Given the description of an element on the screen output the (x, y) to click on. 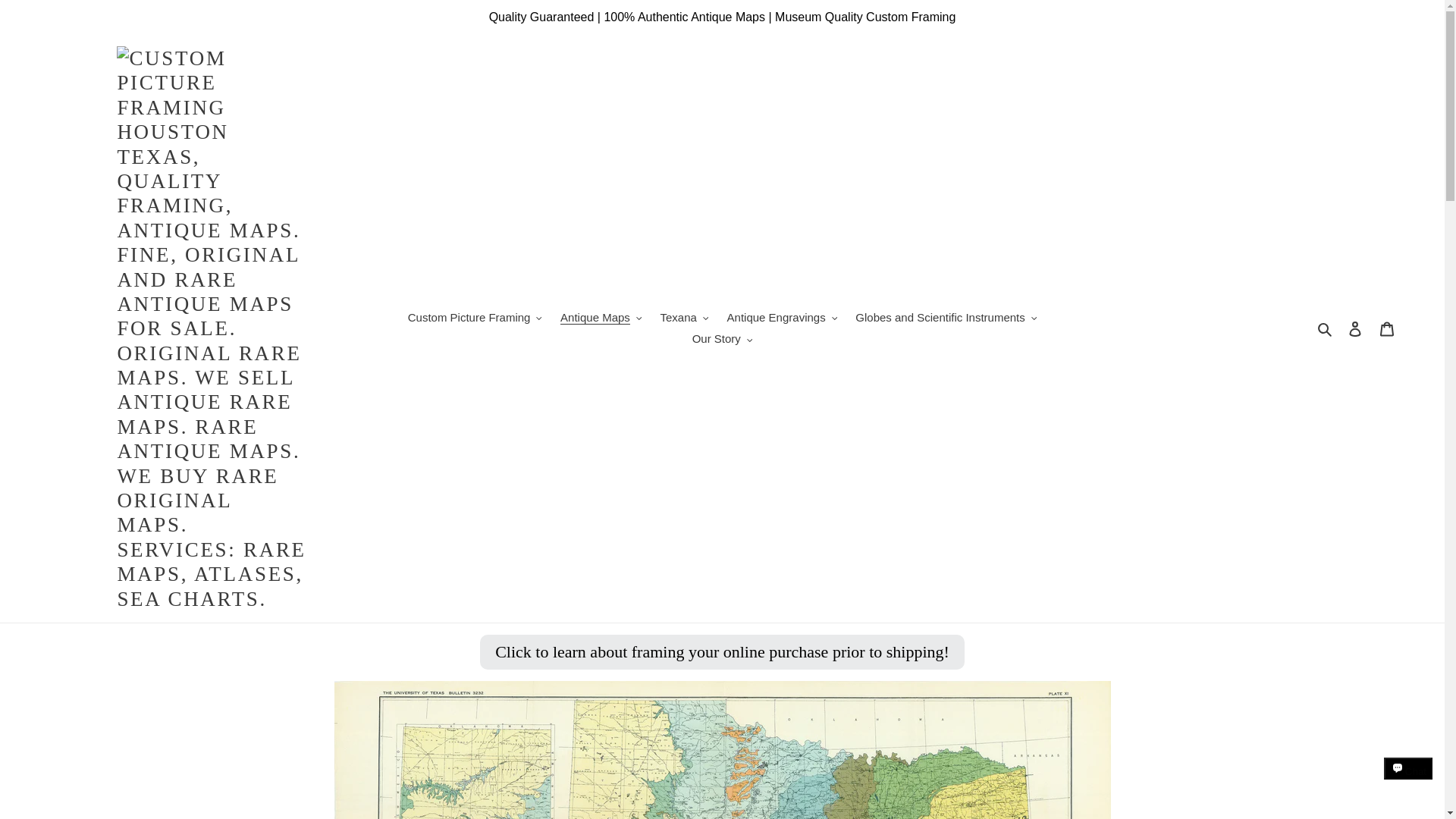
Antique Maps (601, 318)
Custom Picture Framing (475, 318)
Shopify online store chat (1408, 781)
